Given the description of an element on the screen output the (x, y) to click on. 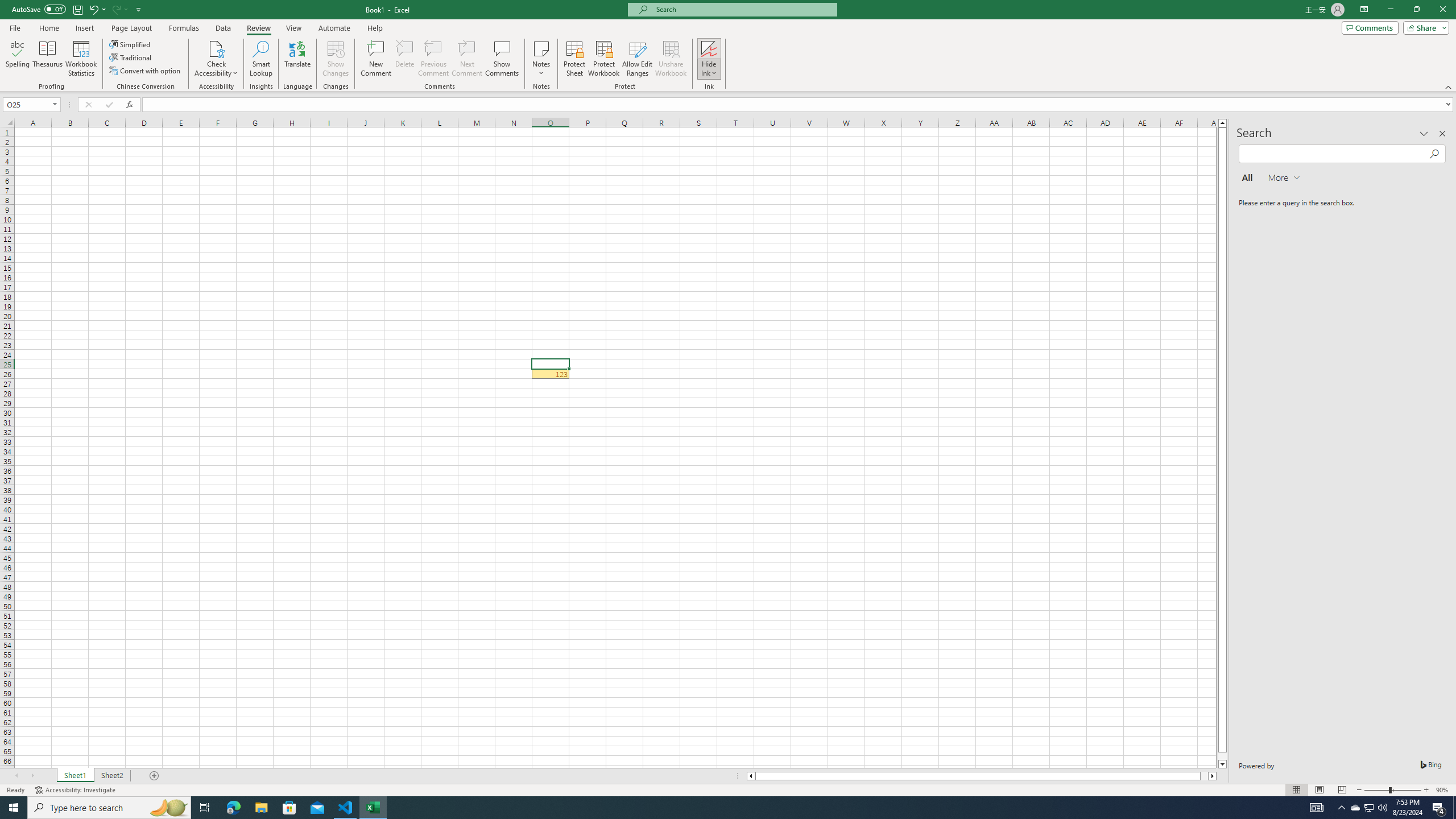
Customize Quick Access Toolbar (139, 9)
Traditional (131, 56)
Data (223, 28)
Formulas (184, 28)
Name Box (30, 104)
Sheet1 (74, 775)
More Options (708, 68)
Show Comments (501, 58)
Help (374, 28)
Page Break Preview (1342, 790)
File Tab (15, 27)
Redo (115, 9)
Ribbon Display Options (1364, 9)
Class: MsoCommandBar (728, 45)
Column left (750, 775)
